Given the description of an element on the screen output the (x, y) to click on. 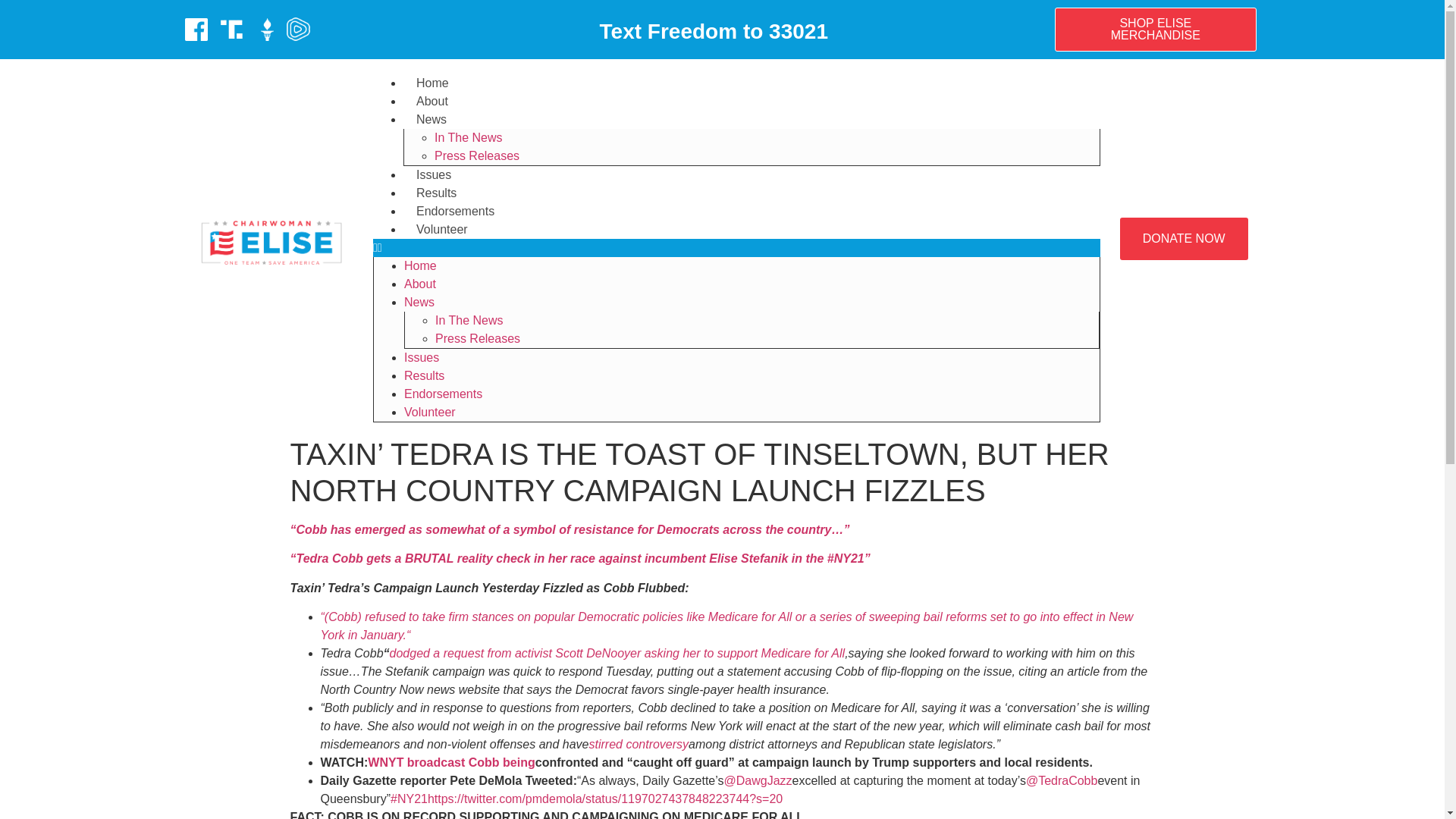
Volunteer (429, 411)
Endorsements (454, 210)
Issues (433, 174)
Home (432, 82)
Results (435, 192)
WNYT broadcast Cobb being (451, 762)
News (418, 301)
About (432, 101)
Issues (421, 357)
